Given the description of an element on the screen output the (x, y) to click on. 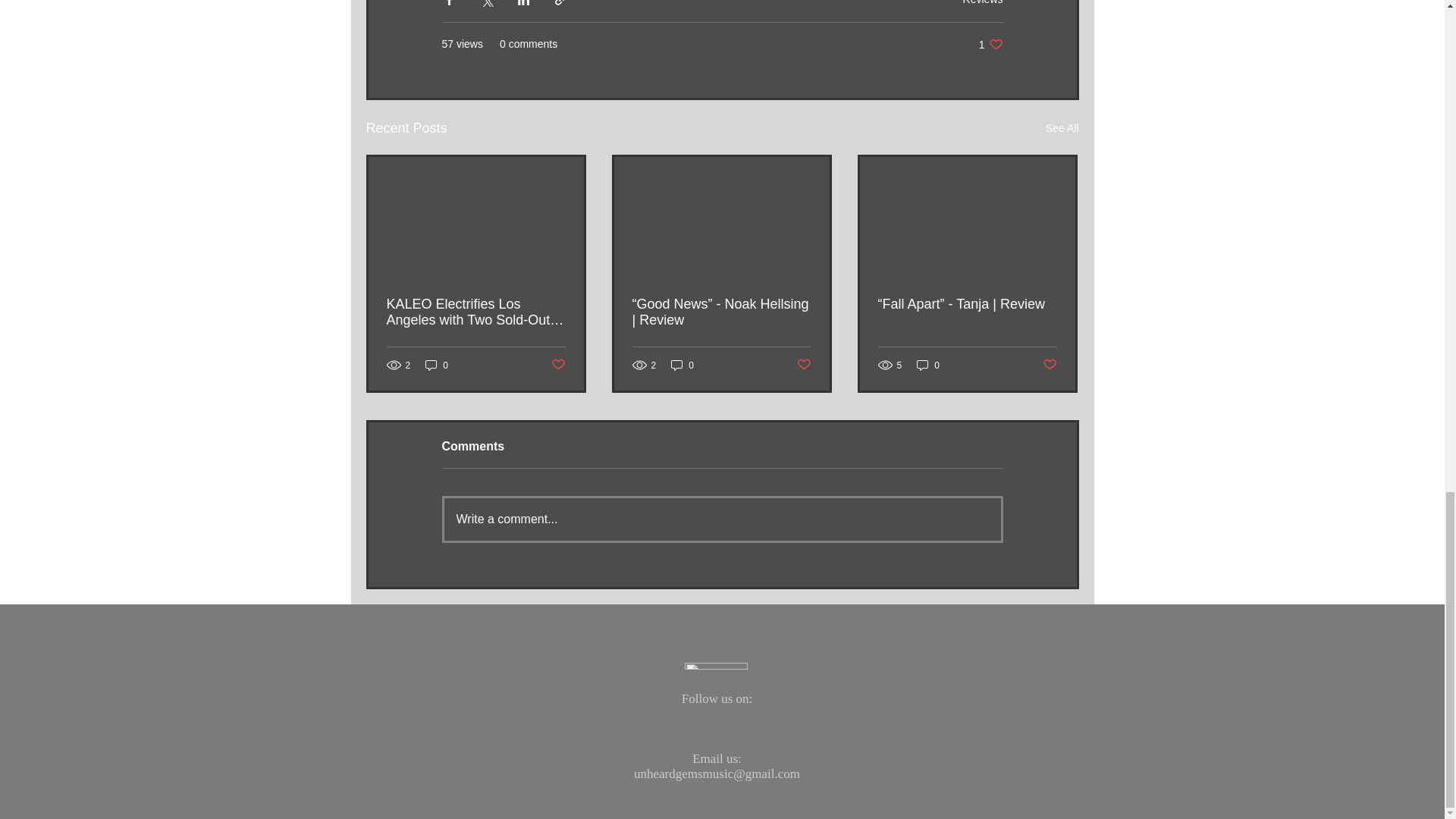
Post not marked as liked (990, 43)
Reviews (557, 365)
0 (982, 2)
Write a comment... (436, 364)
KALEO Electrifies Los Angeles with Two Sold-Out Shows (722, 518)
0 (476, 312)
0 (682, 364)
Post not marked as liked (927, 364)
See All (803, 365)
Post not marked as liked (1061, 128)
